Given the description of an element on the screen output the (x, y) to click on. 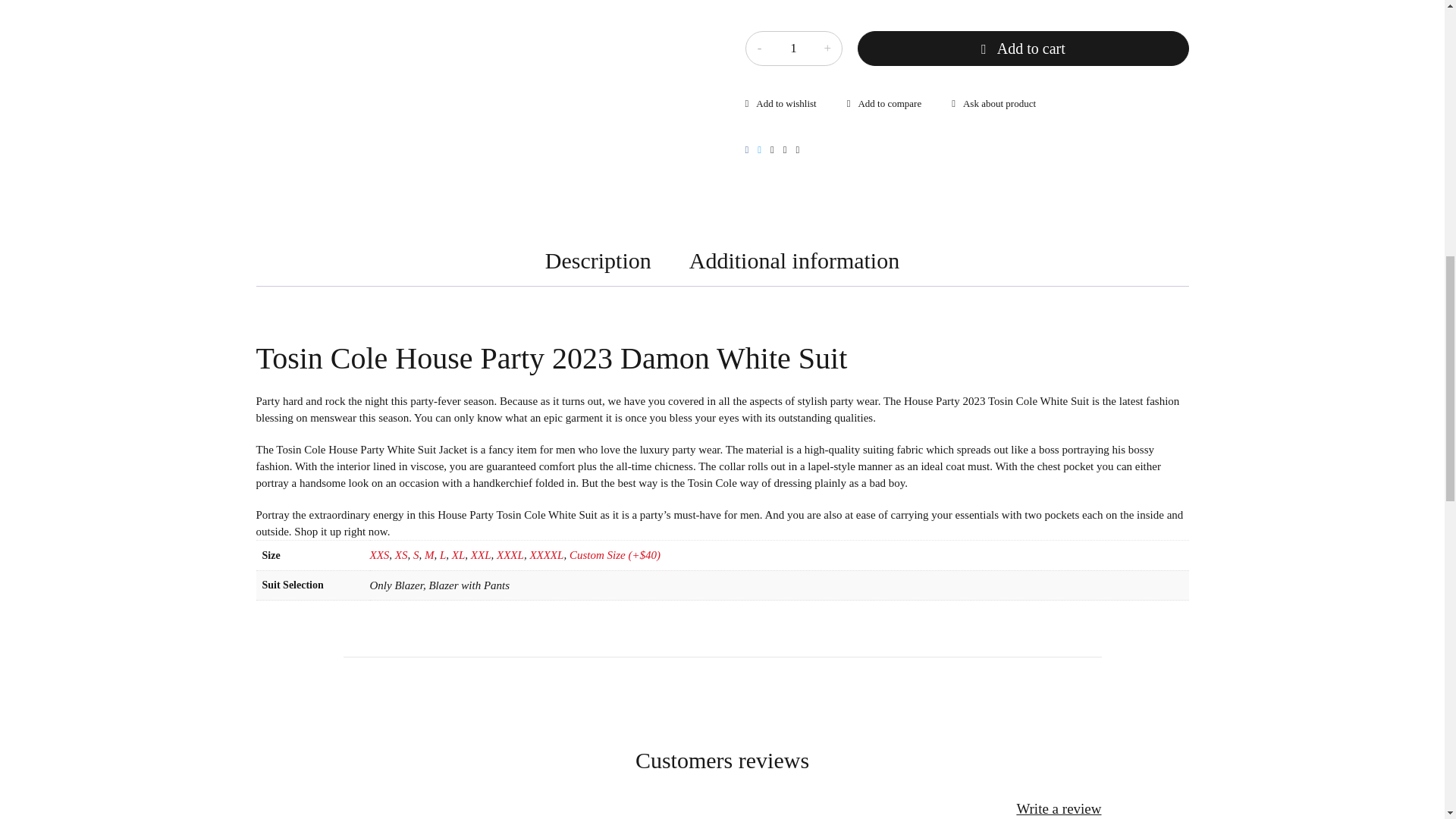
1 (792, 48)
